Given the description of an element on the screen output the (x, y) to click on. 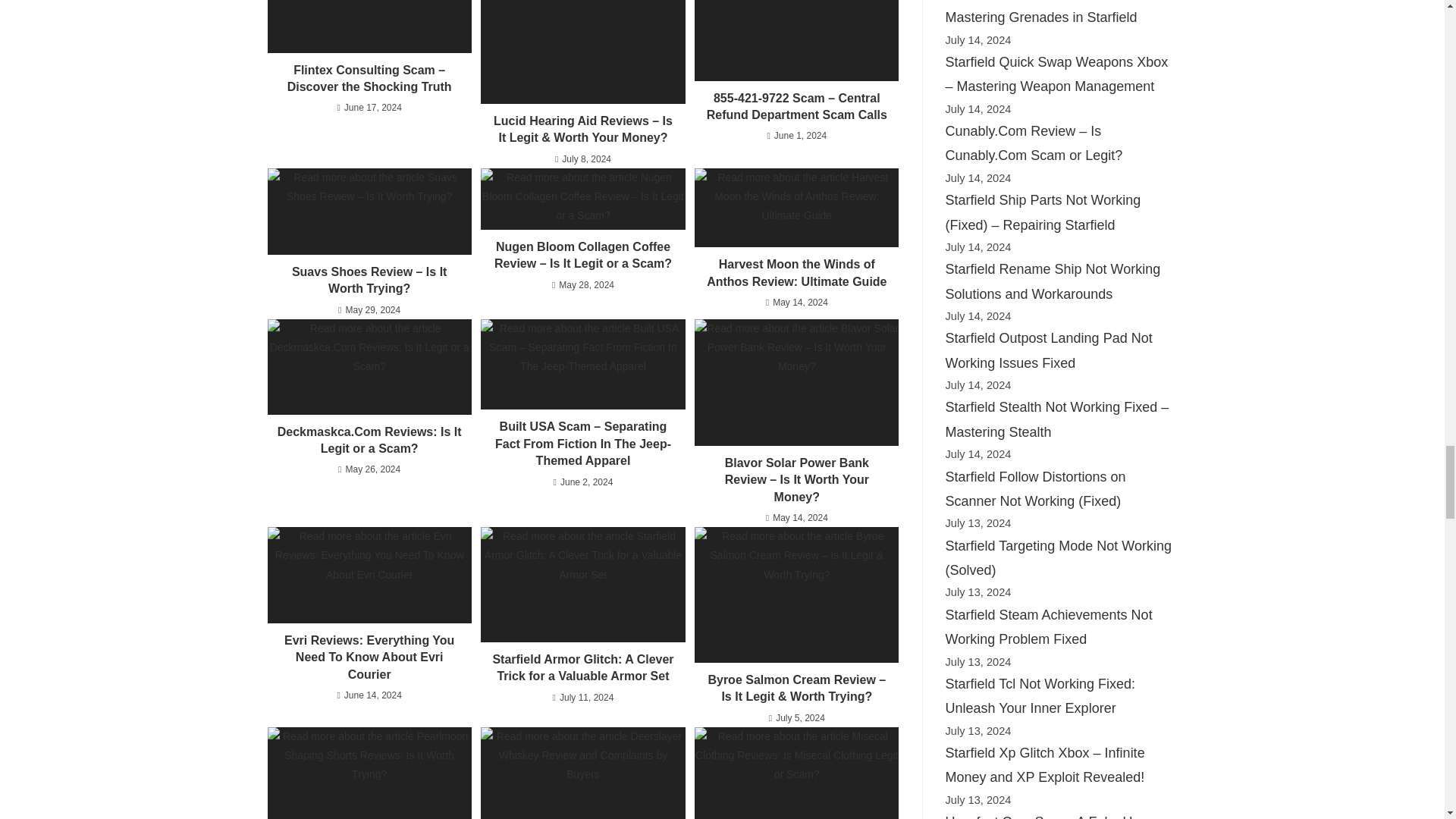
Suavs Shoes Review - Is It Worth Trying? (368, 211)
855-421-9722 Scam - Central Refund Department Scam Calls (796, 40)
Flintex Consulting Scam - Discover the Shocking Truth (368, 26)
